Given the description of an element on the screen output the (x, y) to click on. 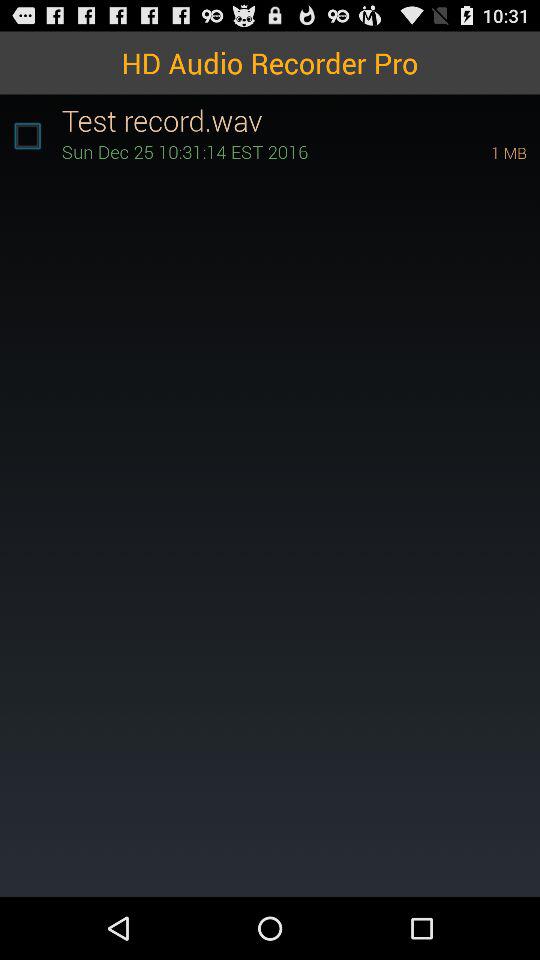
open item next to sun dec 25 (481, 152)
